Given the description of an element on the screen output the (x, y) to click on. 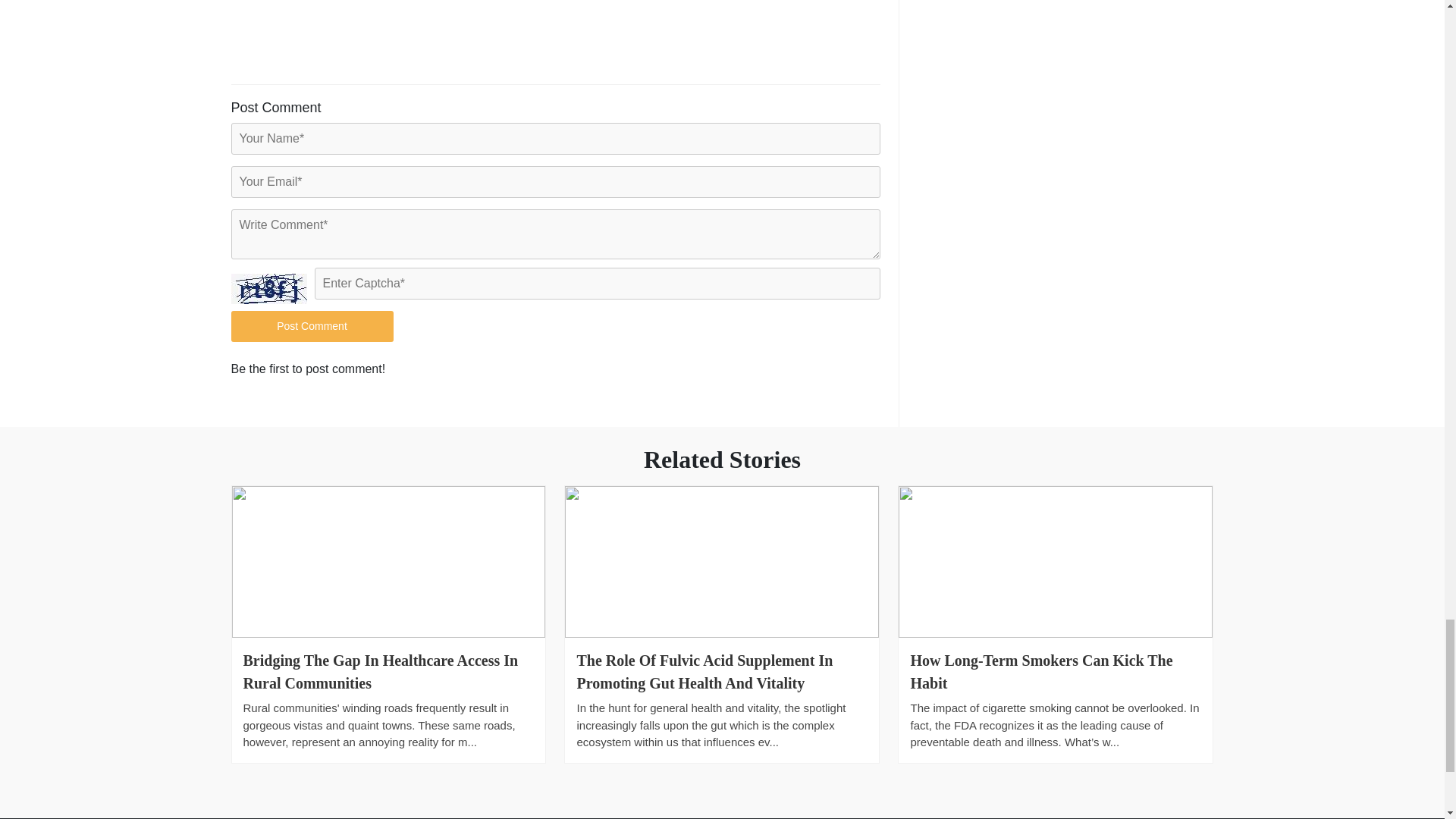
Post Comment (311, 326)
